Given the description of an element on the screen output the (x, y) to click on. 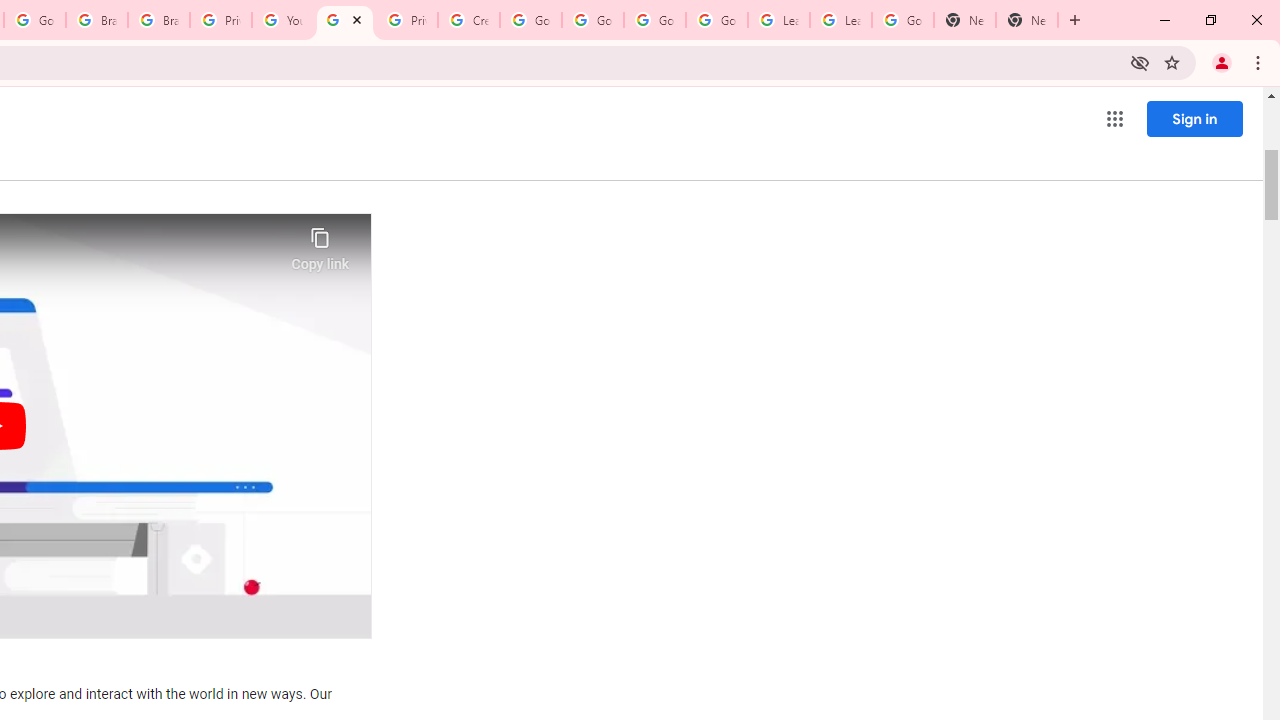
Brand Resource Center (158, 20)
YouTube (282, 20)
Google Account Help (654, 20)
Brand Resource Center (96, 20)
New Tab (1026, 20)
New Tab (964, 20)
Google Account (902, 20)
